Given the description of an element on the screen output the (x, y) to click on. 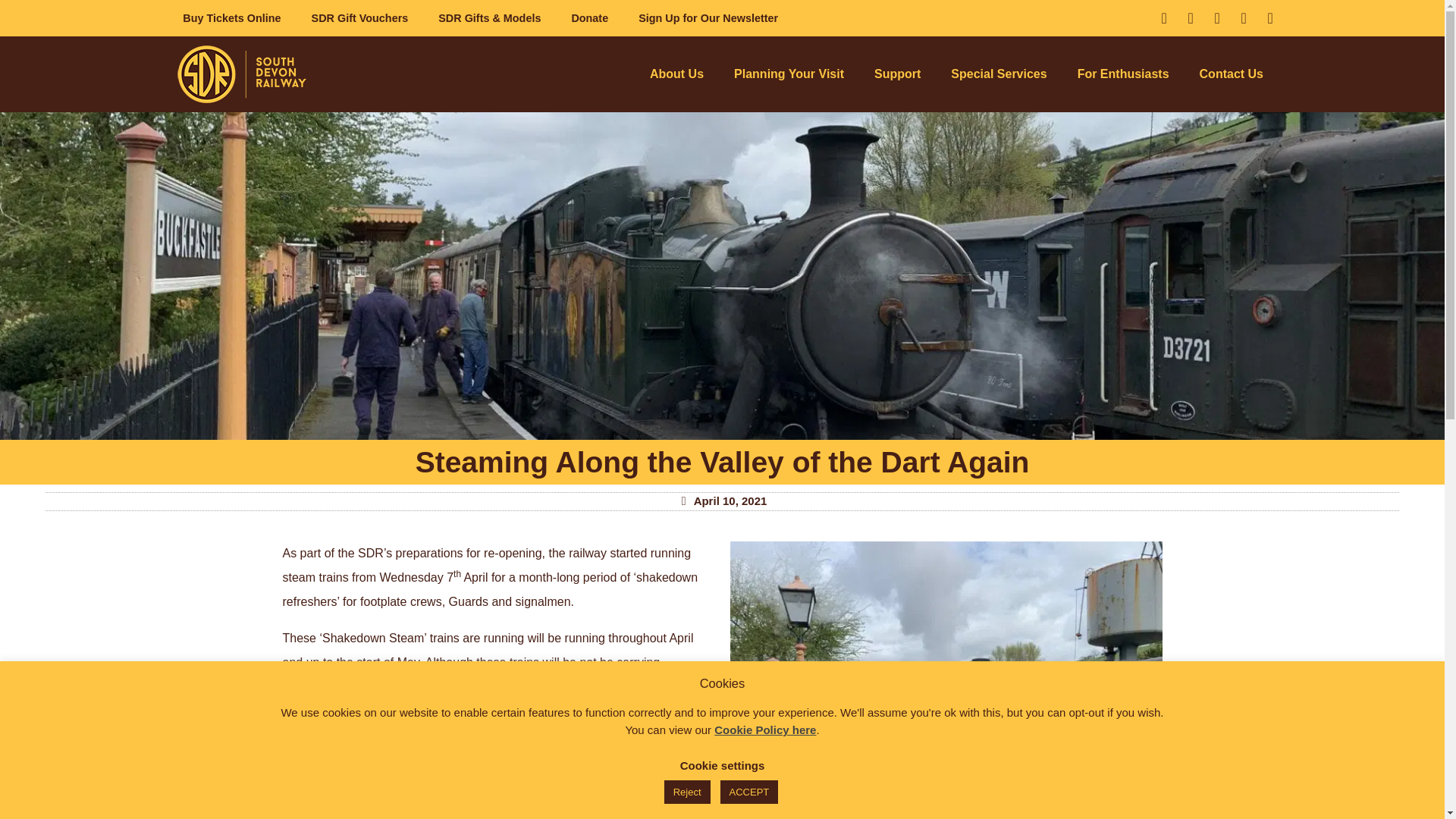
About Us (676, 73)
Sign Up for Our Newsletter (708, 17)
SDR Gift Vouchers (360, 17)
Donate (589, 17)
Buy Tickets Online (231, 17)
Planning Your Visit (789, 73)
